Given the description of an element on the screen output the (x, y) to click on. 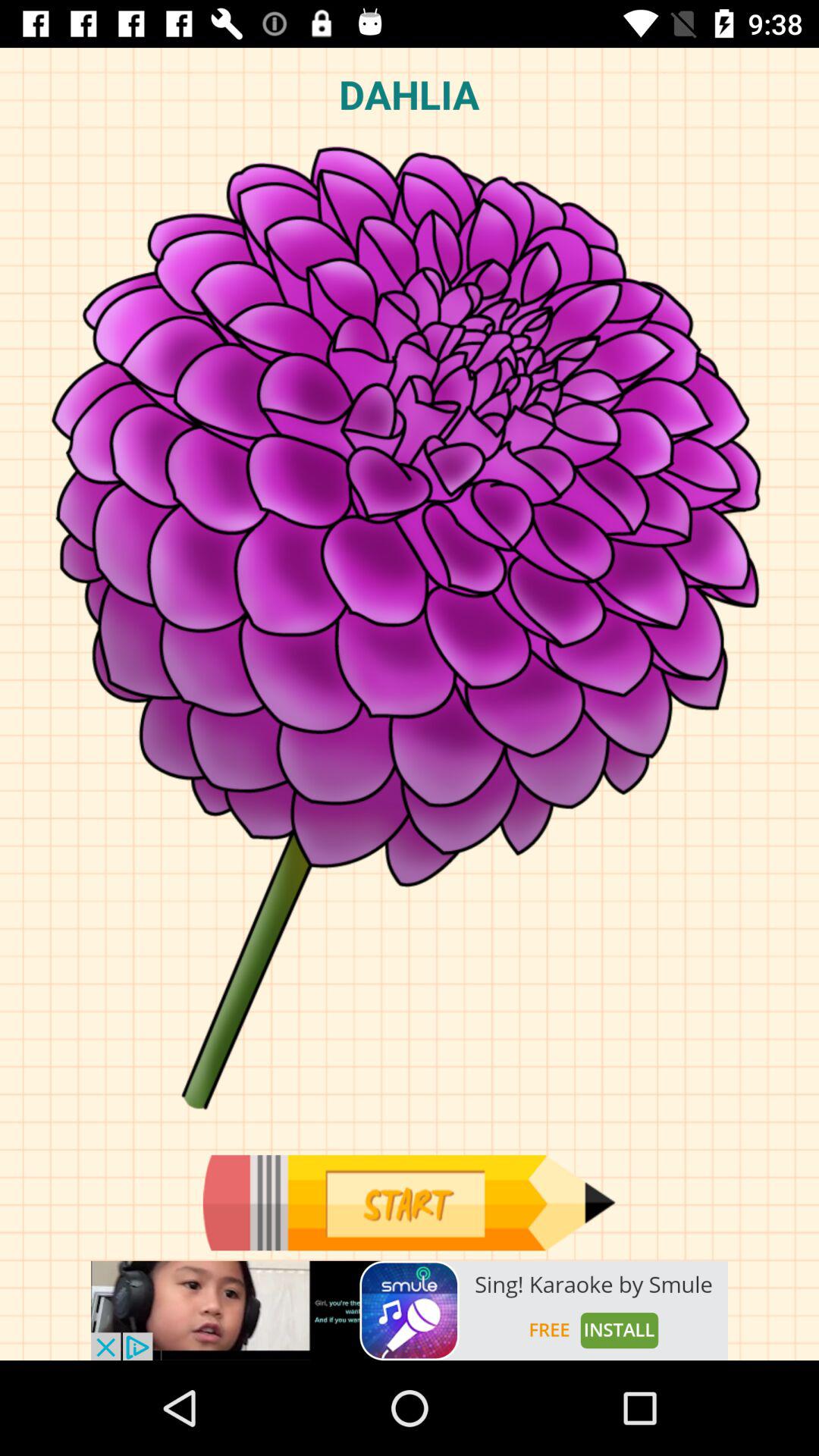
start here (409, 1202)
